Given the description of an element on the screen output the (x, y) to click on. 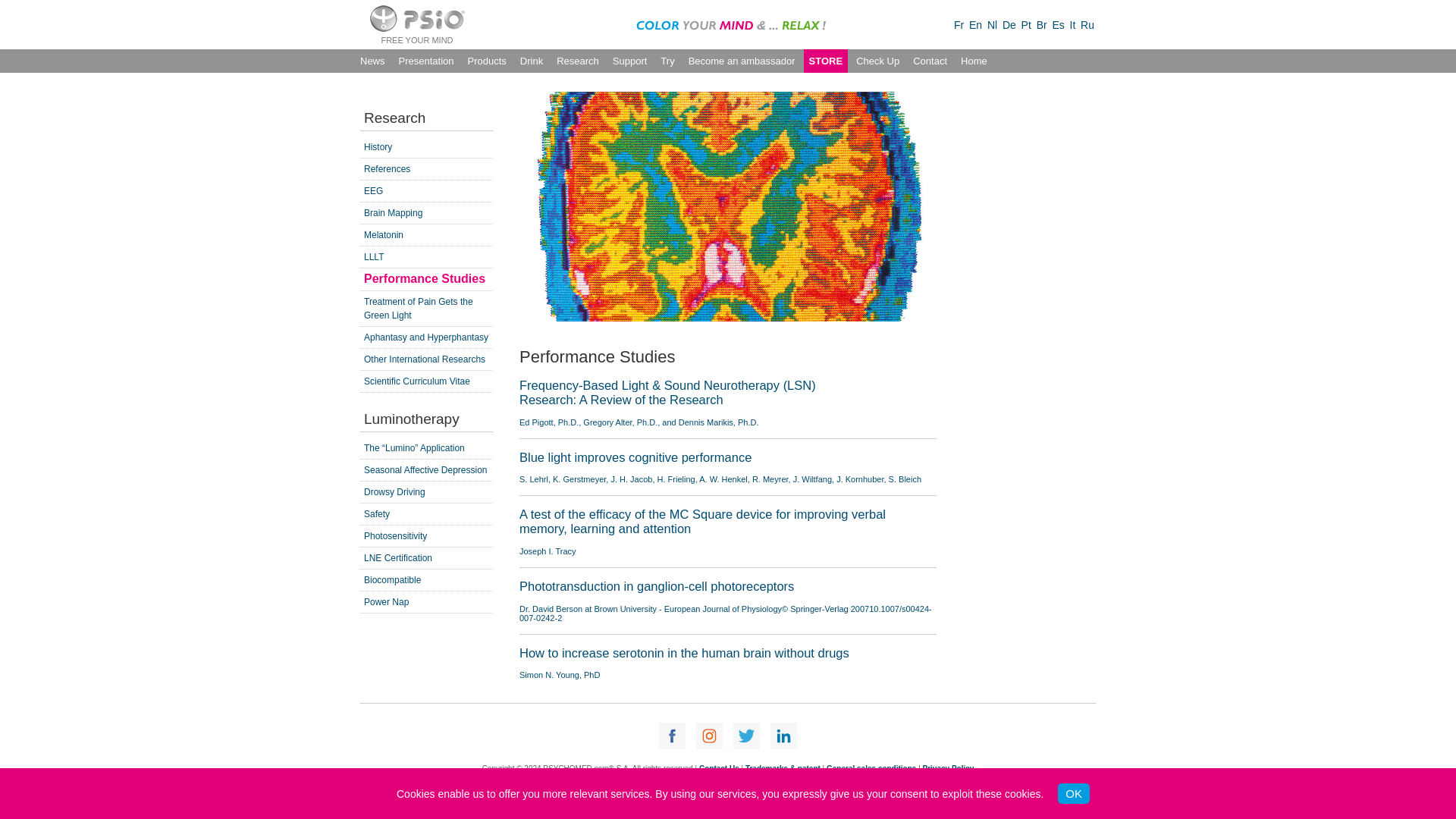
LinkedIn (783, 735)
Check Up (877, 60)
Drink (531, 60)
Aphantasy and Hyperphantasy (425, 337)
Treatment of Pain Gets the Green Light (418, 308)
Performance Studies (424, 278)
Presentation (426, 60)
History (377, 146)
Es (1057, 23)
Twitter (746, 735)
News (372, 60)
Melatonin (383, 235)
STORE (826, 60)
Products (486, 60)
Instagram (708, 735)
